Given the description of an element on the screen output the (x, y) to click on. 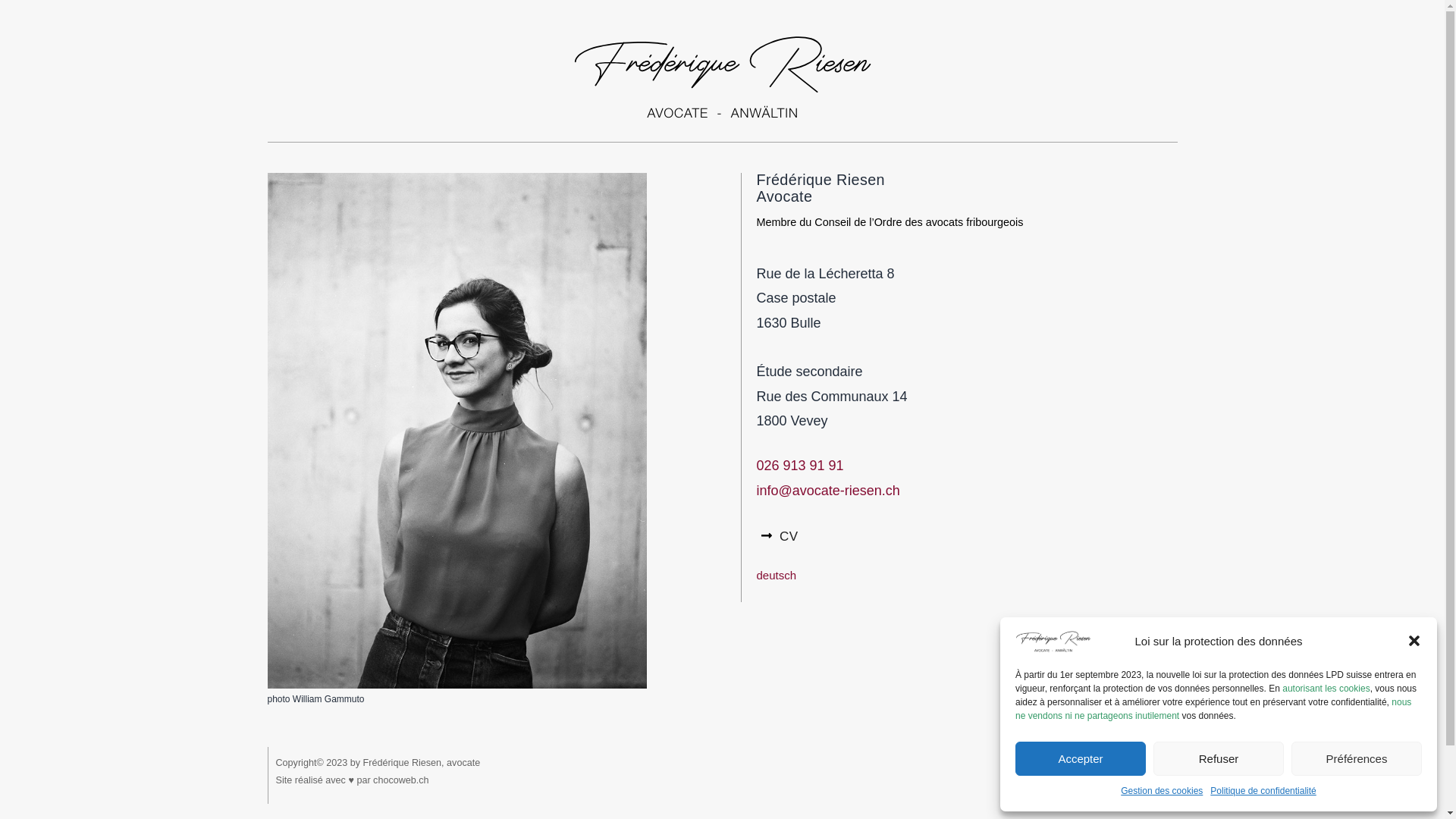
Gestion des cookies Element type: text (1161, 791)
deutsch Element type: text (776, 574)
info@avocate-riesen.ch Element type: text (828, 490)
Refuser Element type: text (1218, 758)
026 913 91 91 Element type: text (800, 465)
chocoweb.ch Element type: text (401, 780)
Accepter Element type: text (1080, 758)
